Given the description of an element on the screen output the (x, y) to click on. 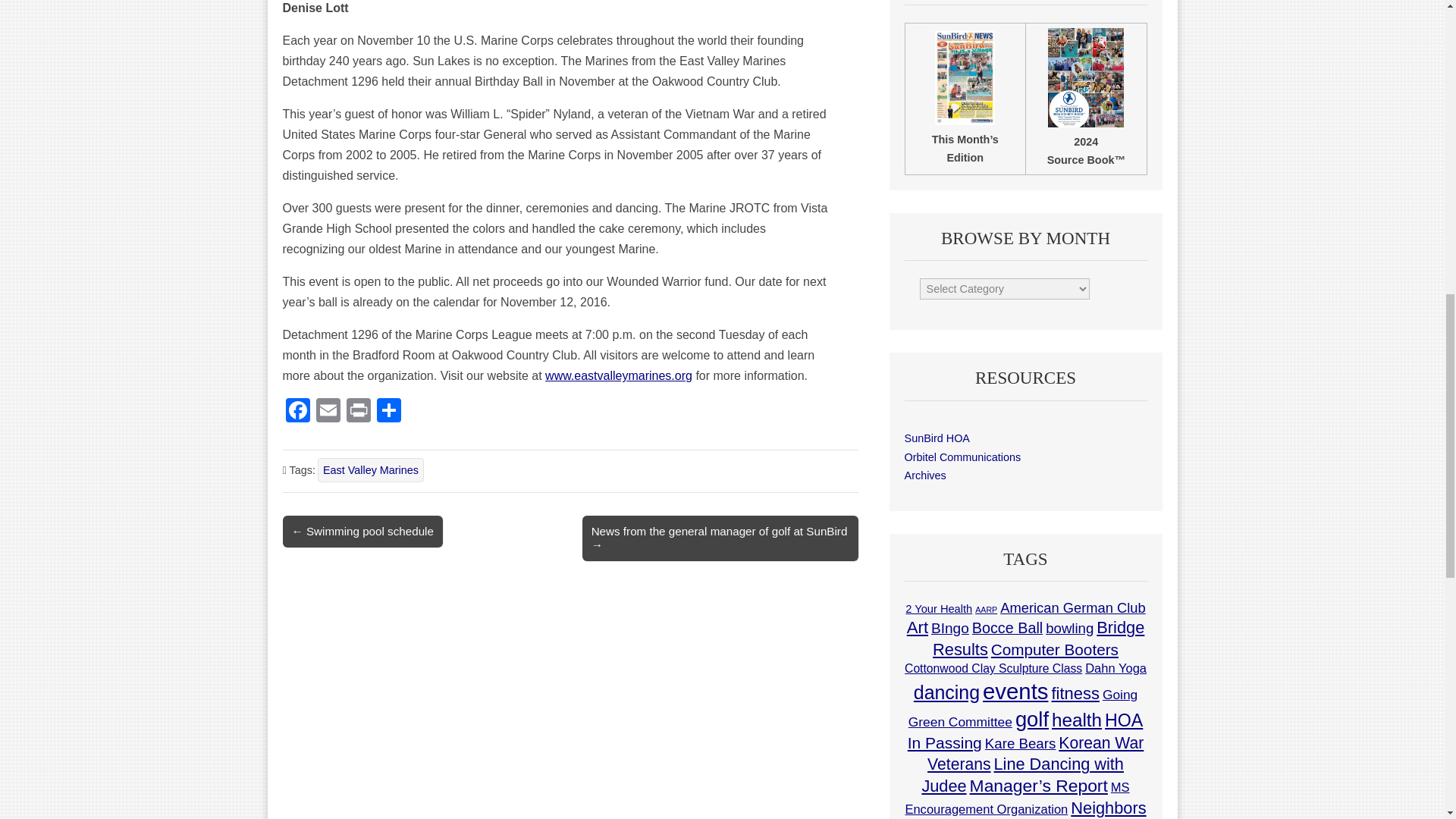
Email (327, 411)
www.eastvalleymarines.org (618, 375)
Facebook (297, 411)
Print (357, 411)
Email (327, 411)
Print (357, 411)
East Valley Marines (370, 469)
Facebook (297, 411)
